Given the description of an element on the screen output the (x, y) to click on. 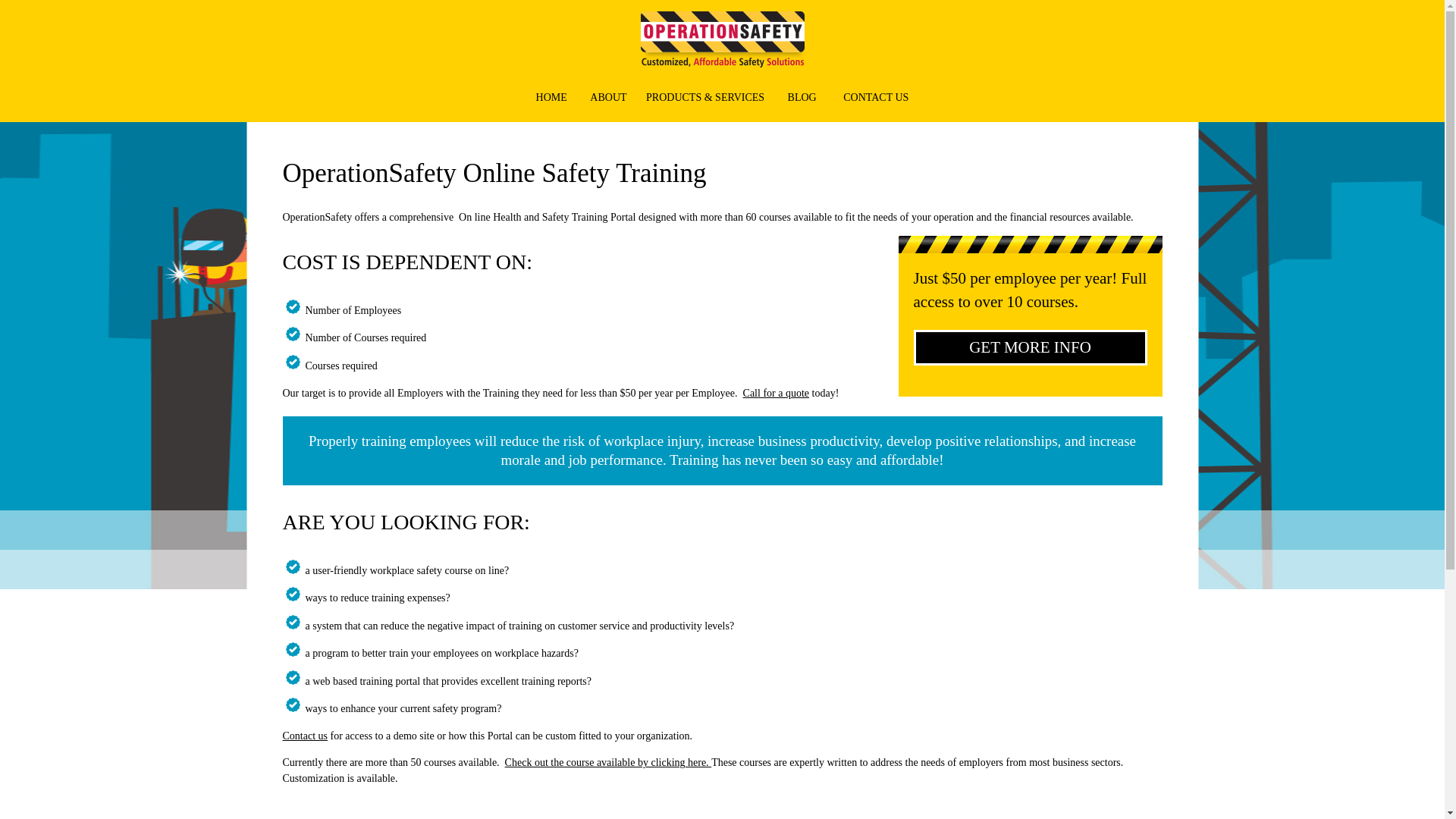
BLOG (802, 96)
Contact us (304, 736)
CONTACT US (876, 96)
ABOUT (607, 97)
HOME (551, 96)
GET MORE INFO (1029, 348)
Call for a quote (775, 392)
Check out the course available by clicking here.  (608, 762)
